Given the description of an element on the screen output the (x, y) to click on. 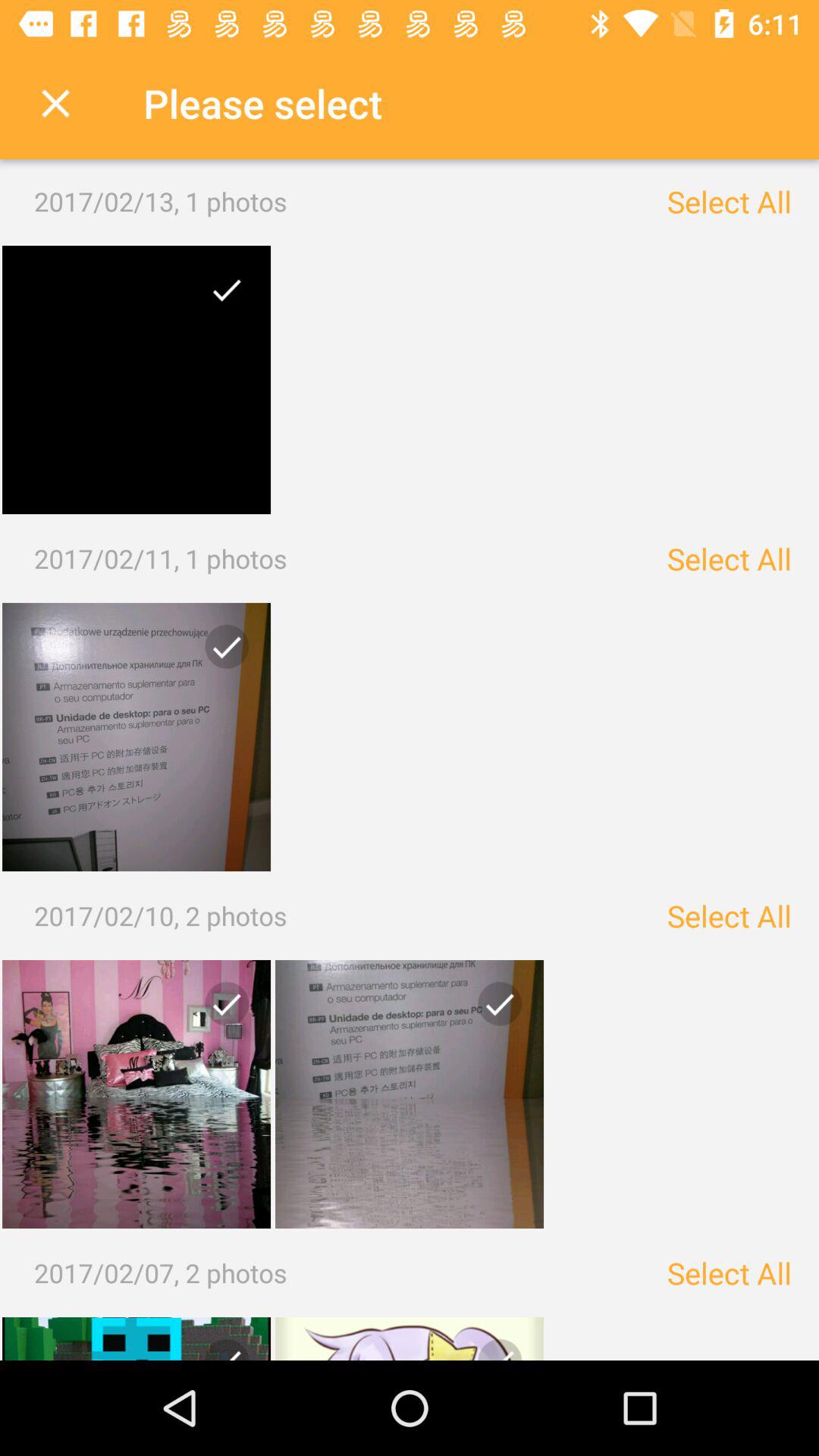
select/deselect photo (493, 1009)
